Given the description of an element on the screen output the (x, y) to click on. 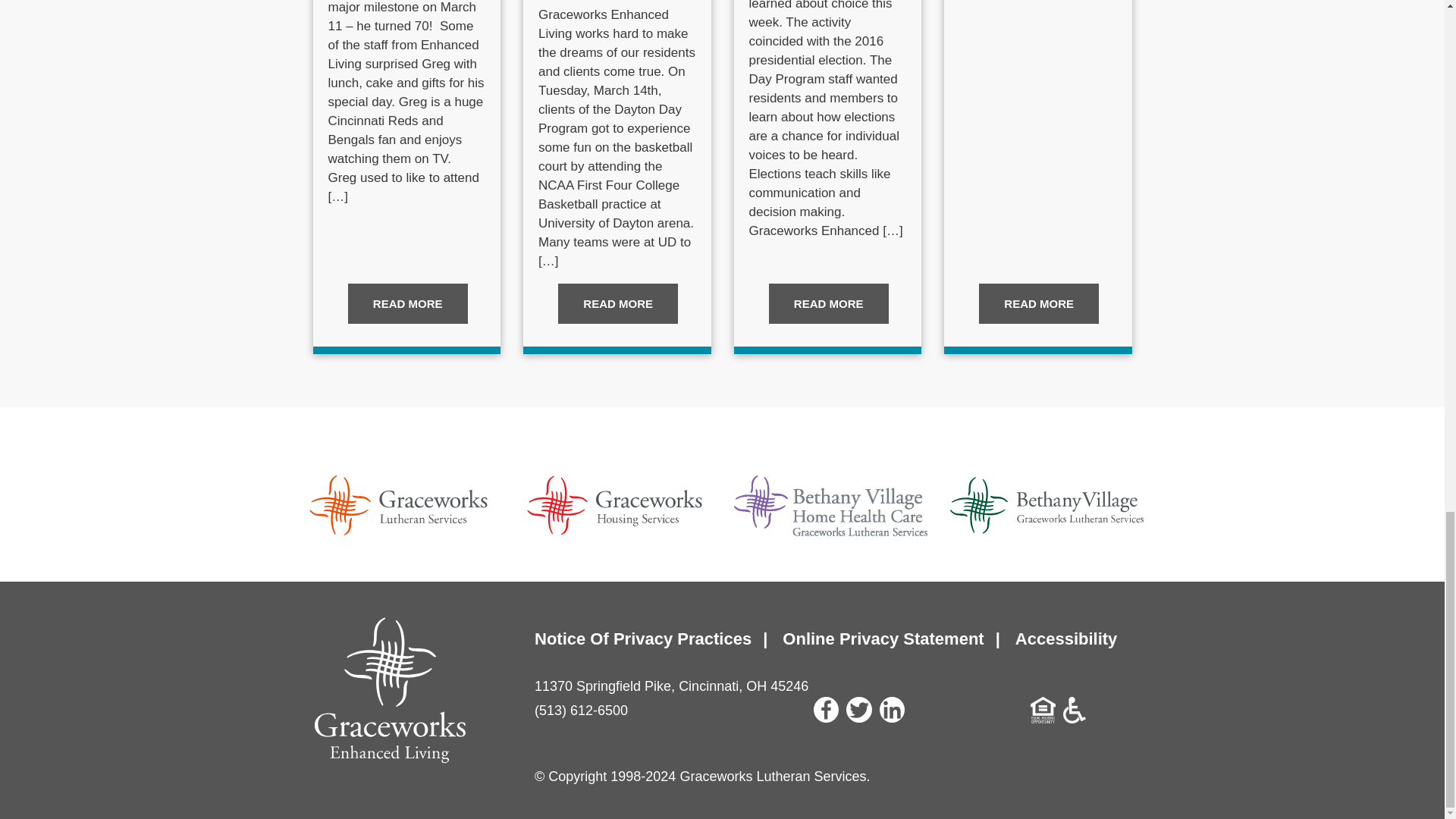
read post (828, 303)
read post (1039, 303)
read post (407, 303)
read post (617, 303)
